Given the description of an element on the screen output the (x, y) to click on. 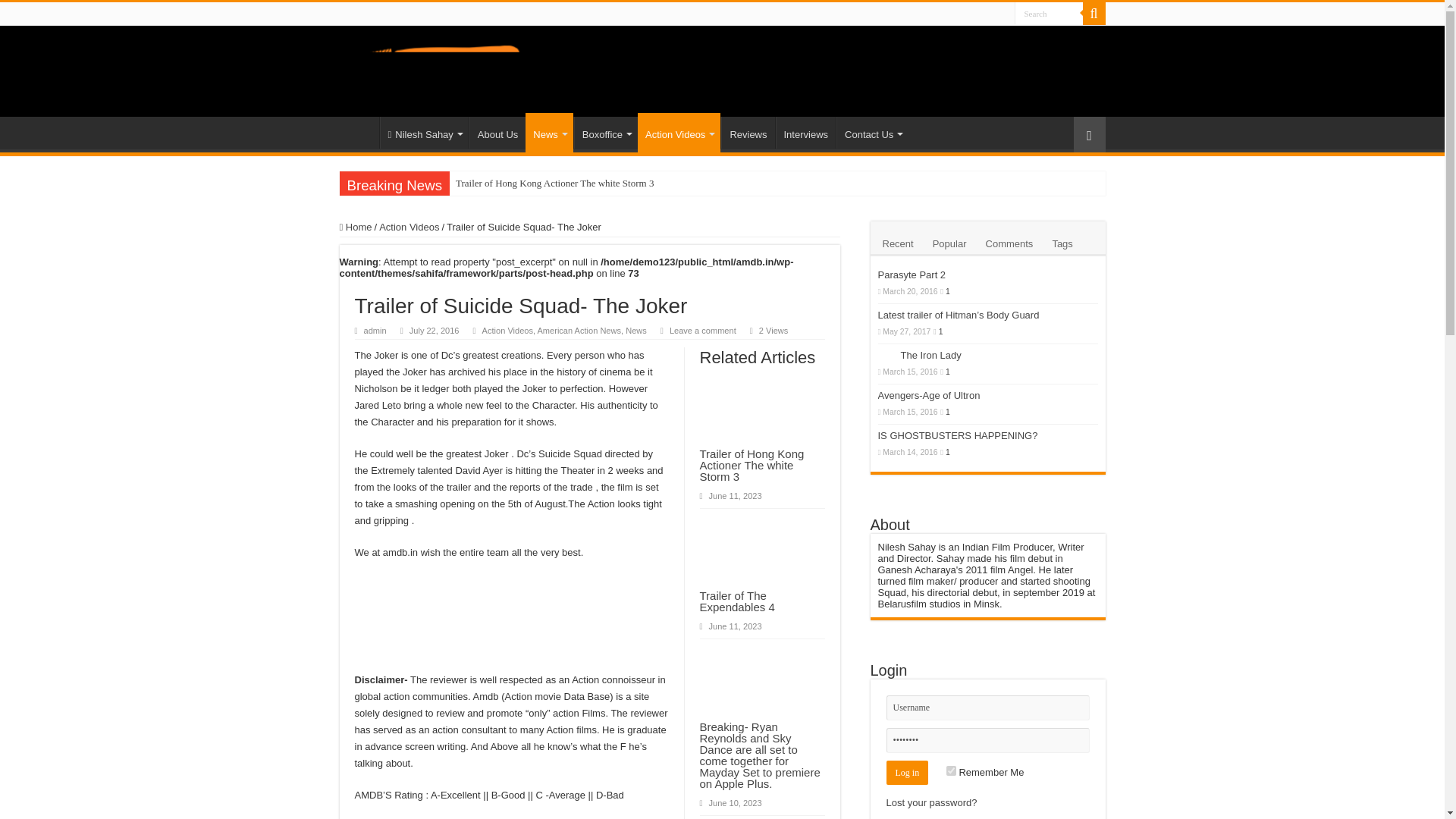
Search (1048, 13)
forever (951, 770)
Password (987, 740)
Log in (906, 772)
Search (1094, 13)
Amdb (452, 66)
Action Videos (678, 132)
Boxoffice (605, 132)
News (549, 132)
Search (1048, 13)
About Us (496, 132)
Home (358, 132)
Username (987, 707)
Search (1048, 13)
